Given the description of an element on the screen output the (x, y) to click on. 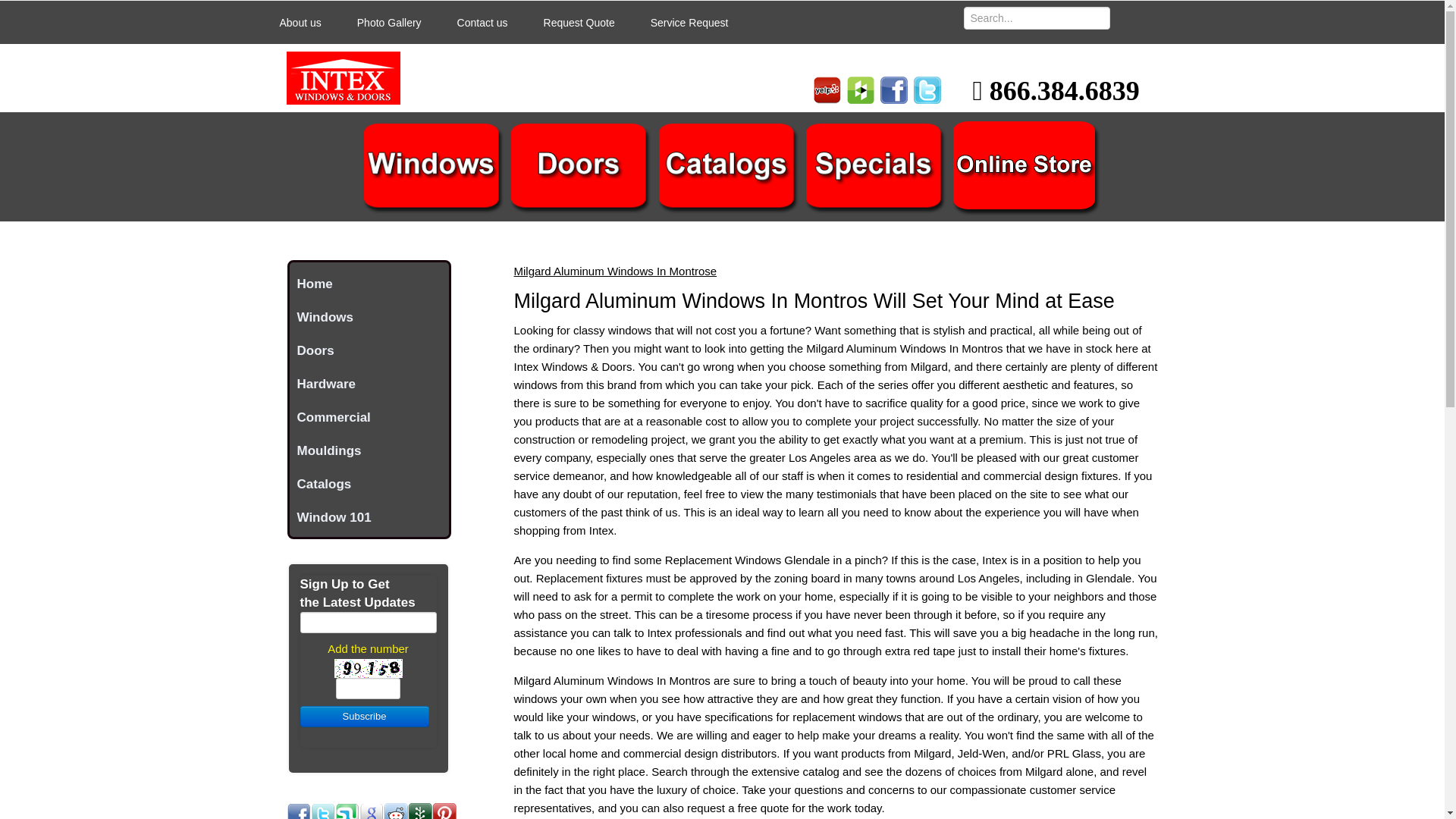
Subscribe (364, 716)
Contact us (482, 21)
Home (368, 284)
Service Request (689, 21)
Commercial (368, 417)
Twitter (322, 811)
Pinterest (444, 811)
866.384.6839 (1055, 96)
Doors (368, 350)
Request Quote (579, 21)
Window 101 (368, 517)
Google Bookmarks (371, 811)
Windows (368, 317)
About us (300, 21)
newsvine (419, 811)
